Given the description of an element on the screen output the (x, y) to click on. 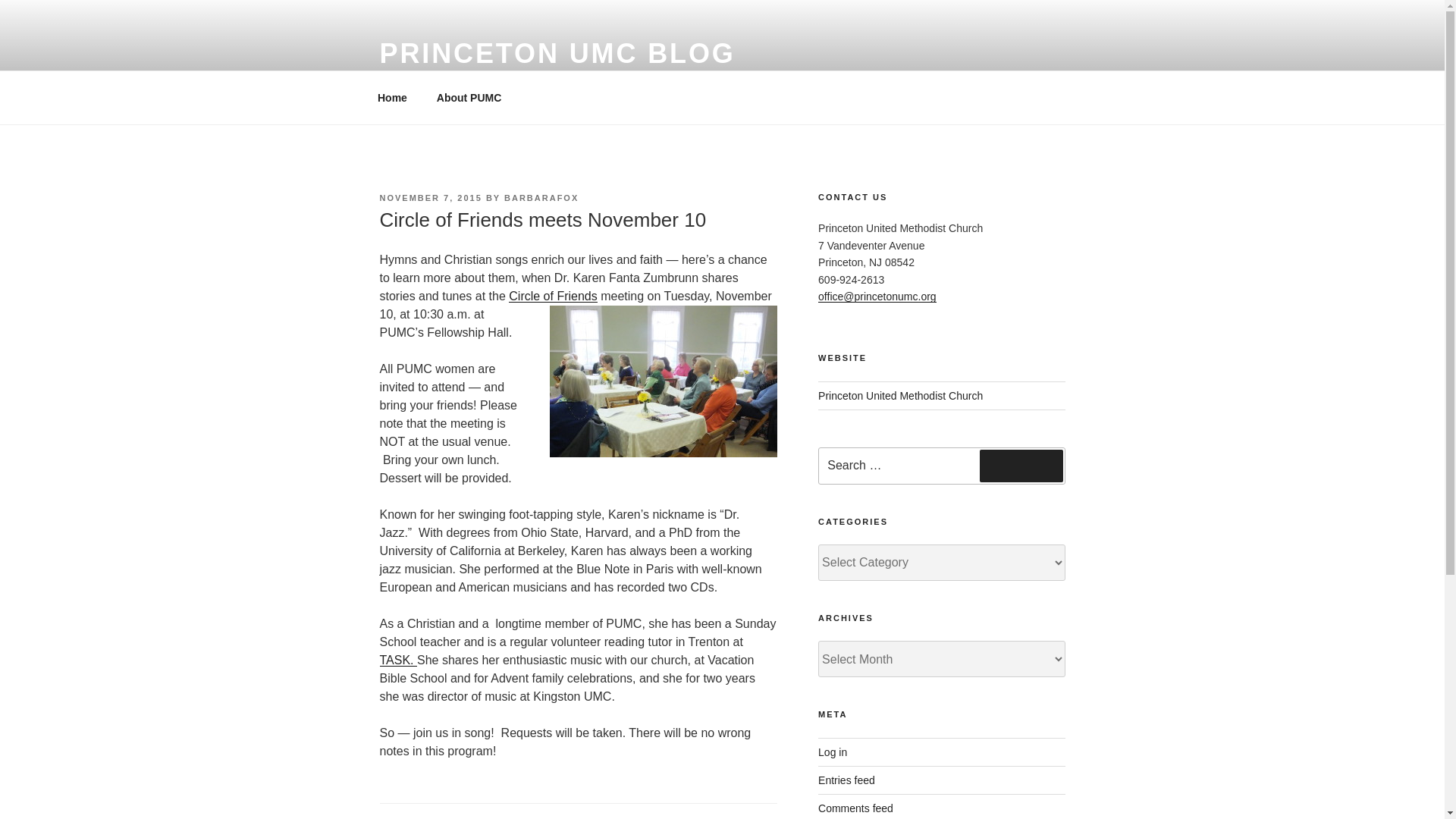
Log in (832, 752)
About PUMC (469, 97)
BARBARAFOX (540, 197)
Search (1020, 465)
Circle of Friends (552, 295)
Princeton United Methodist Church (900, 395)
PRINCETON UMC BLOG (556, 52)
Entries feed (846, 779)
NOVEMBER 7, 2015 (429, 197)
TASK. (397, 659)
Home (392, 97)
Comments feed (855, 808)
